Given the description of an element on the screen output the (x, y) to click on. 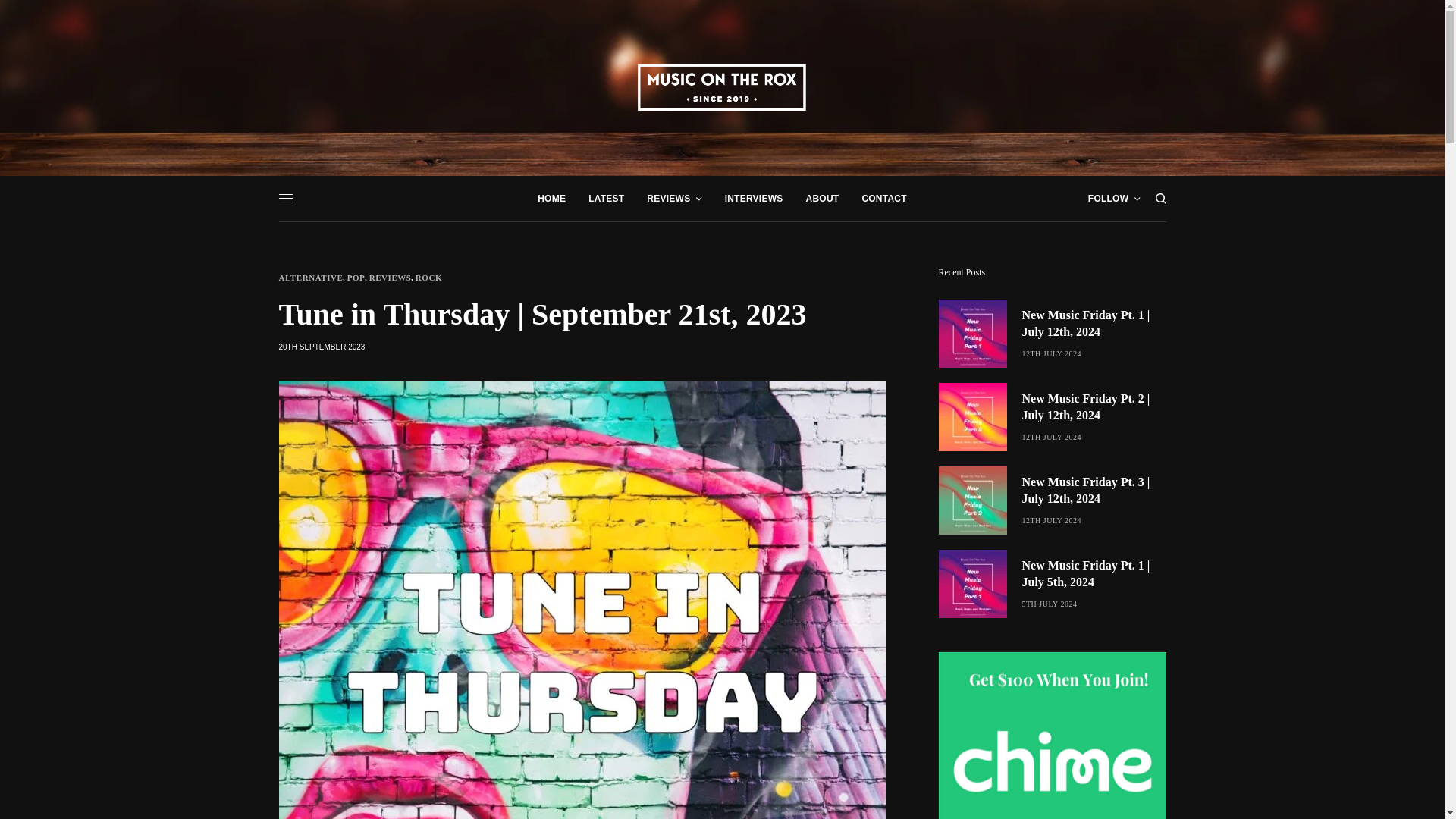
REVIEWS (673, 198)
